Given the description of an element on the screen output the (x, y) to click on. 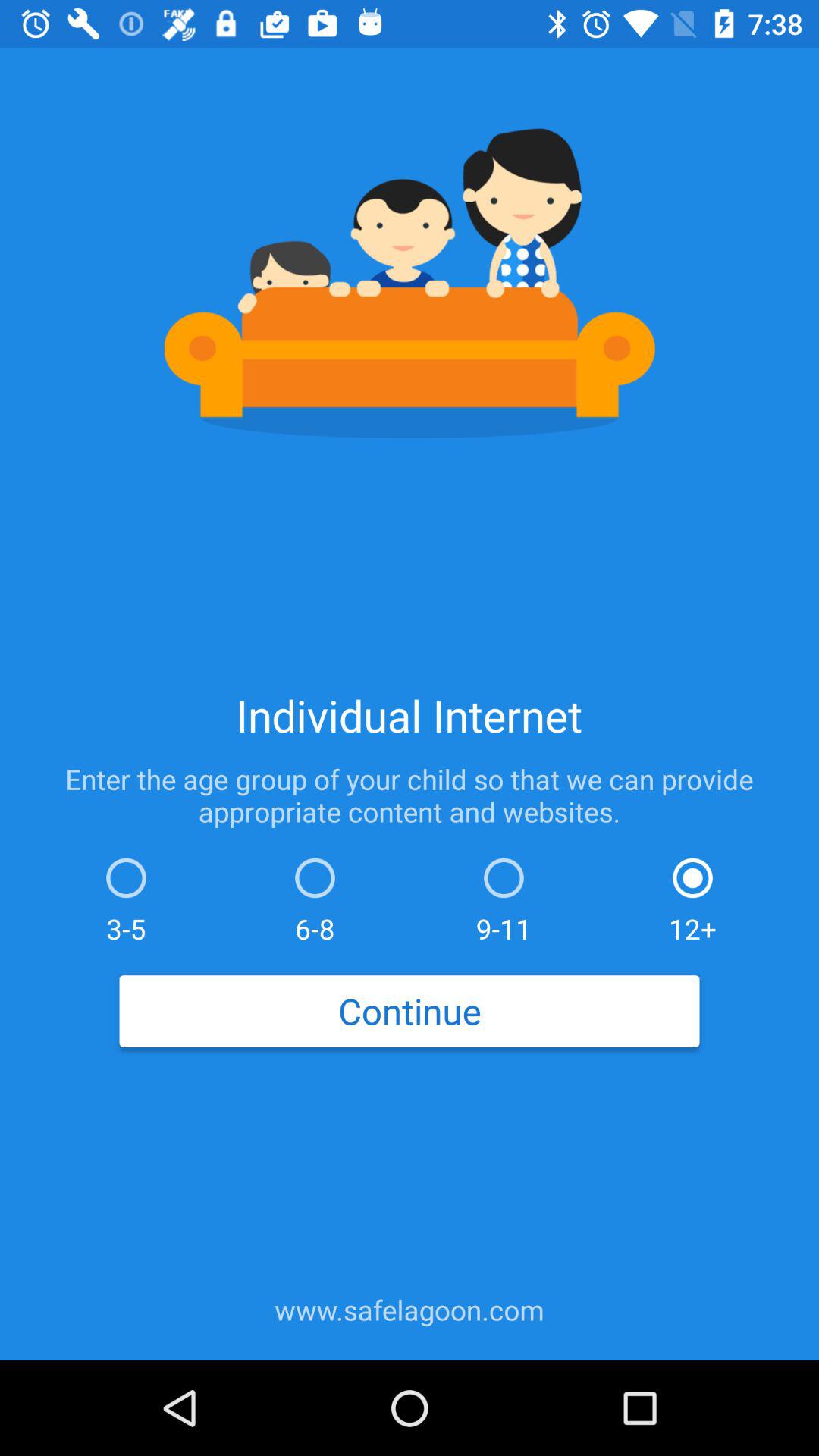
tap the 3-5 item (125, 896)
